Given the description of an element on the screen output the (x, y) to click on. 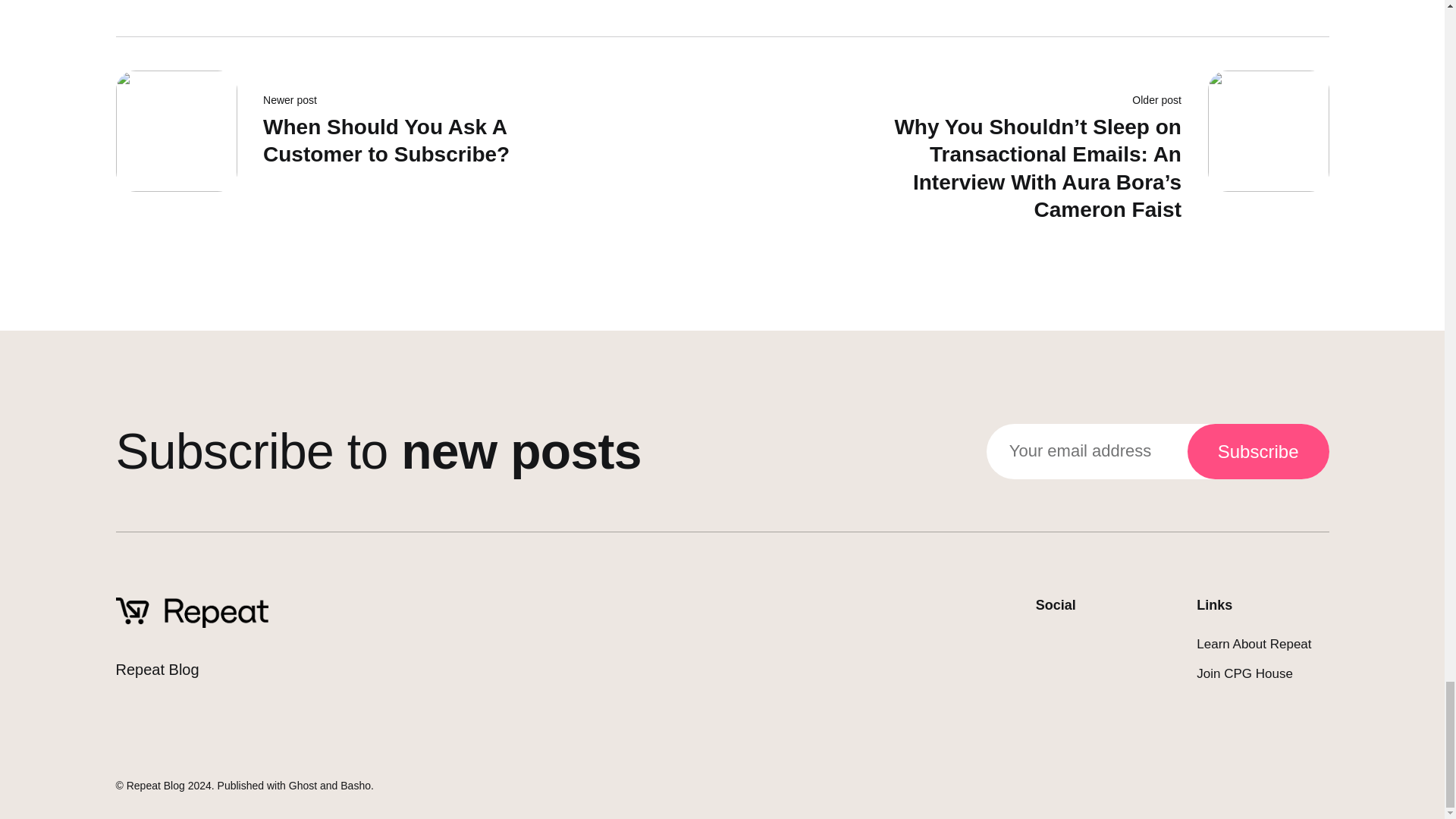
Learn About Repeat (357, 151)
Subscribe (1253, 644)
Repeat Blog (1258, 451)
Join CPG House (155, 785)
